Given the description of an element on the screen output the (x, y) to click on. 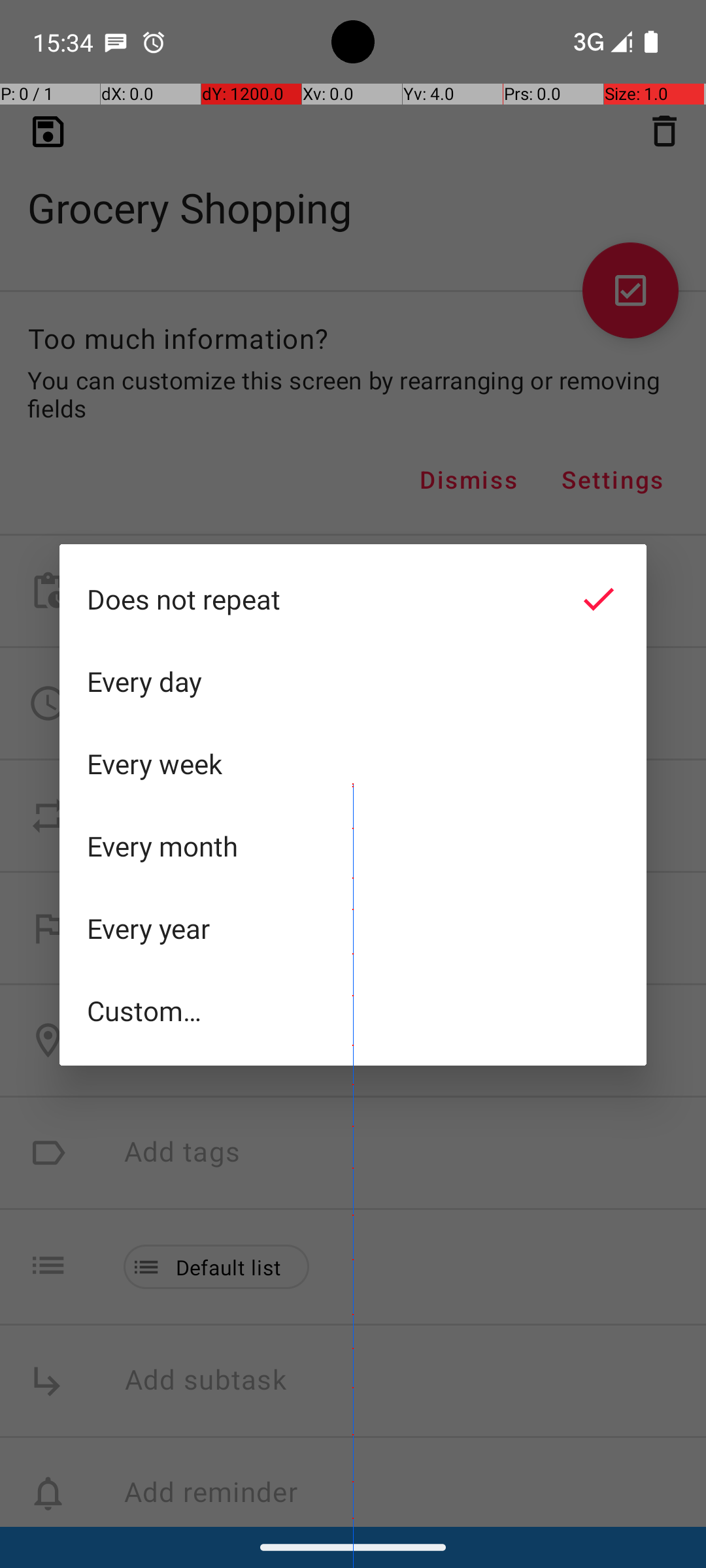
Every day Element type: android.widget.CheckedTextView (352, 681)
Every week Element type: android.widget.CheckedTextView (352, 763)
Every month Element type: android.widget.CheckedTextView (352, 845)
Every year Element type: android.widget.CheckedTextView (352, 928)
